Given the description of an element on the screen output the (x, y) to click on. 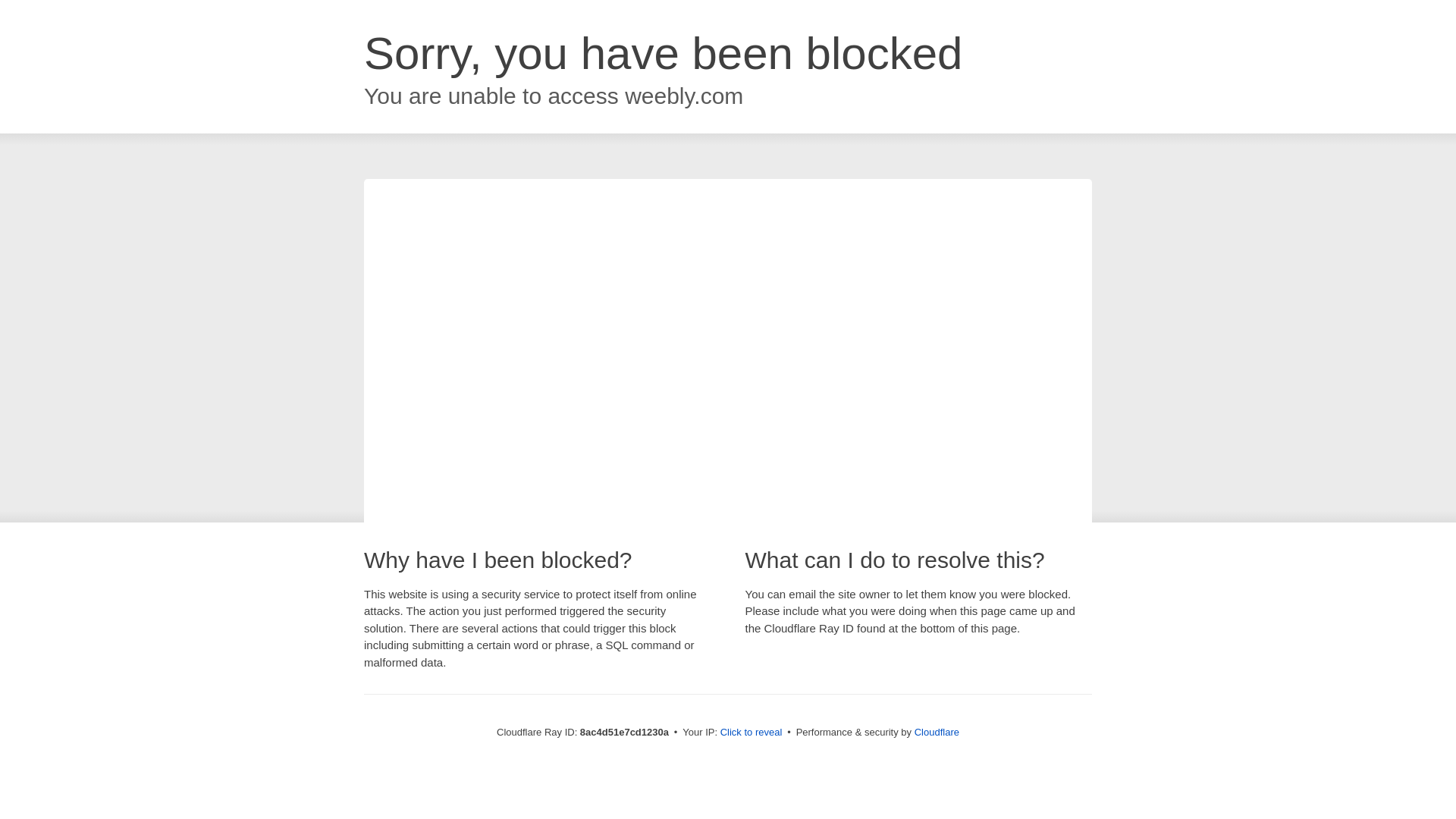
Cloudflare (935, 731)
Click to reveal (749, 732)
